Given the description of an element on the screen output the (x, y) to click on. 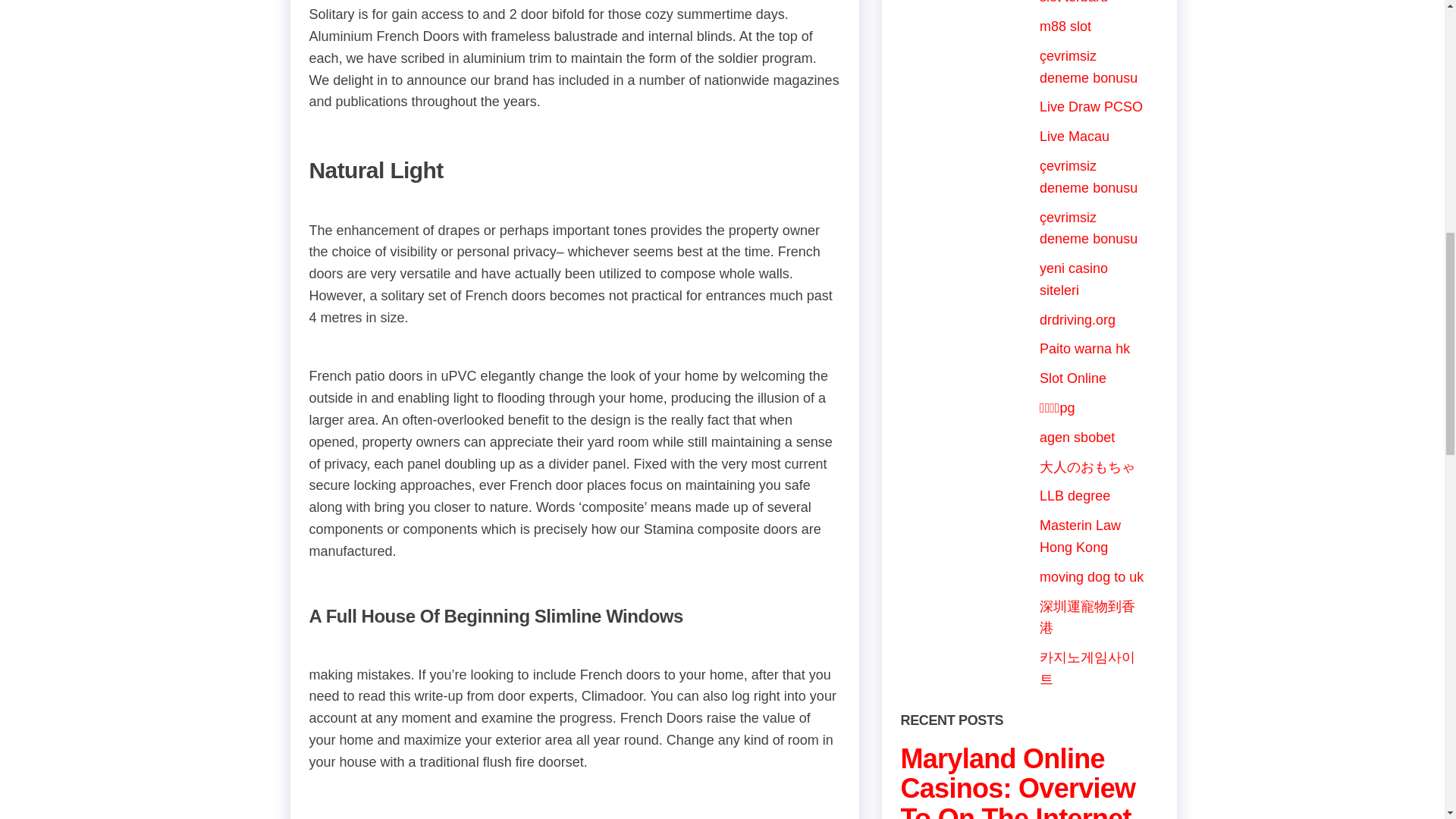
yeni casino siteleri (1073, 279)
drdriving.org (1077, 319)
Paito warna hk (1084, 348)
LLB degree (1074, 495)
Live Macau (1074, 136)
m88 slot (1064, 26)
Slot Online (1072, 378)
agen sbobet (1077, 437)
slot terbaru (1073, 2)
Live Draw PCSO (1090, 106)
